Given the description of an element on the screen output the (x, y) to click on. 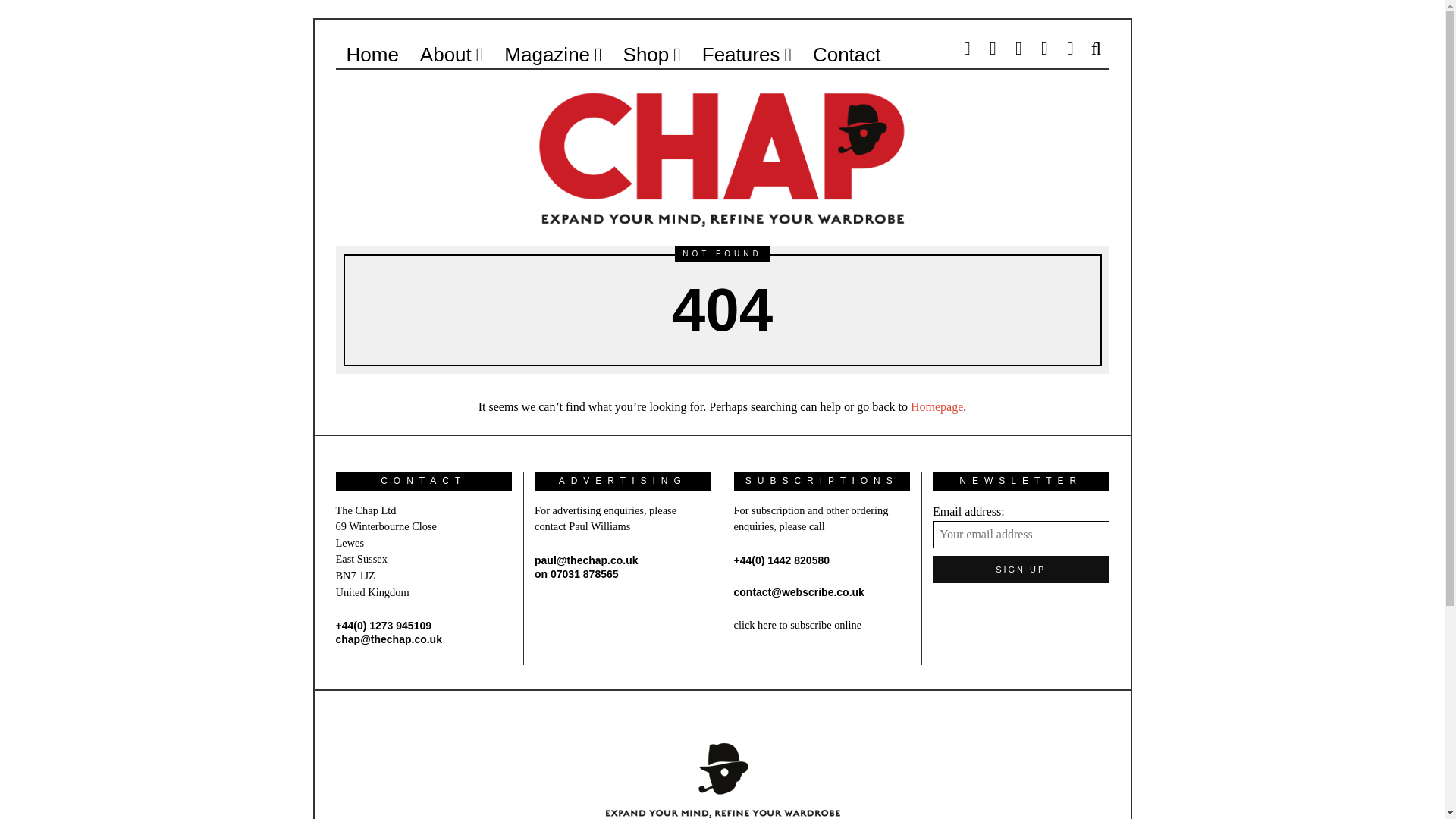
Shop (651, 54)
Features (746, 54)
About (451, 54)
Contact (846, 54)
Magazine (552, 54)
Home (371, 54)
Sign up (1021, 569)
